Given the description of an element on the screen output the (x, y) to click on. 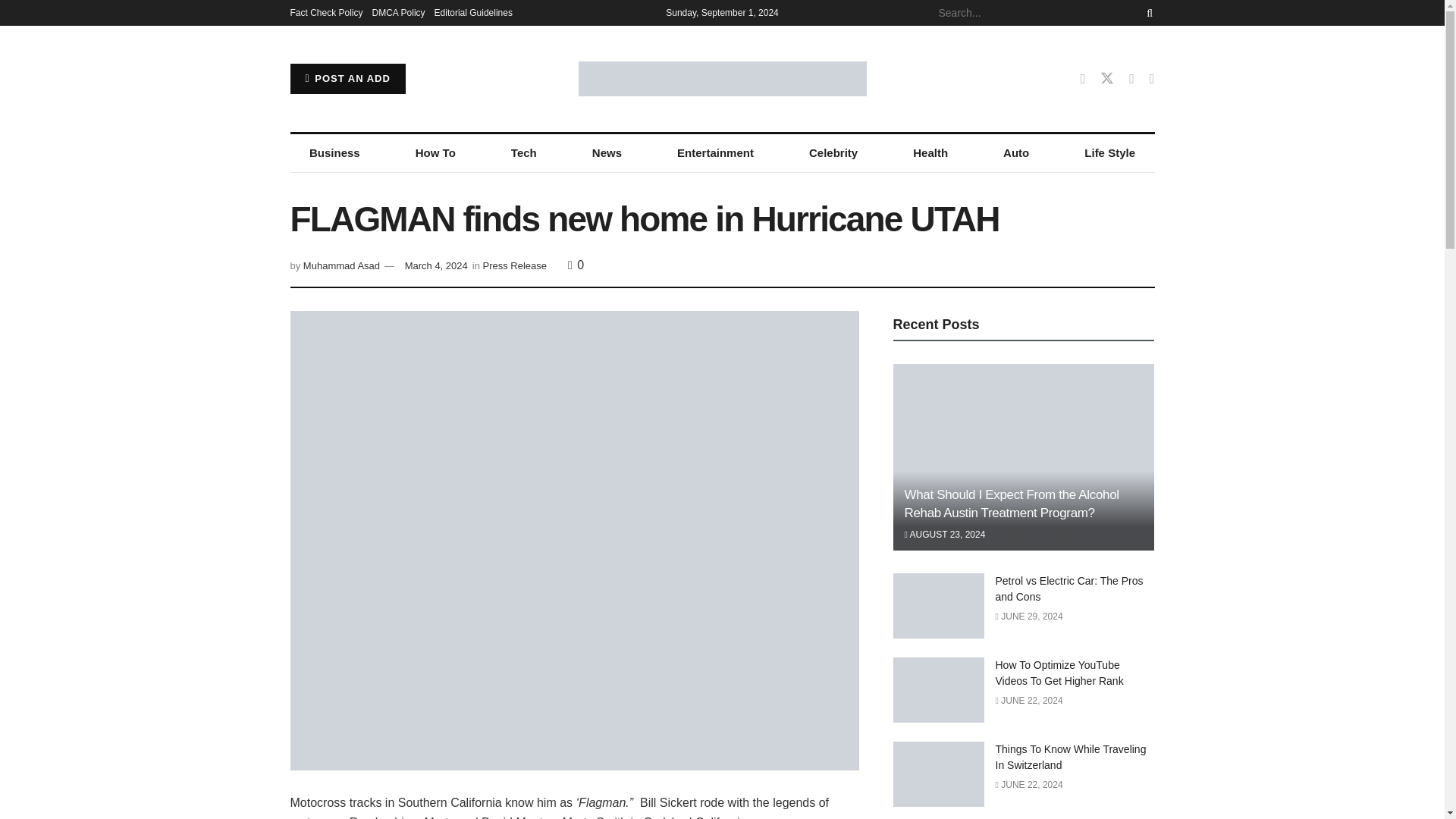
Editorial Guidelines (472, 12)
Press Release (515, 265)
Fact Check Policy (325, 12)
0 (575, 264)
DMCA Policy (398, 12)
Auto (1016, 152)
Tech (524, 152)
Celebrity (832, 152)
POST AN ADD (346, 78)
Health (930, 152)
